Given the description of an element on the screen output the (x, y) to click on. 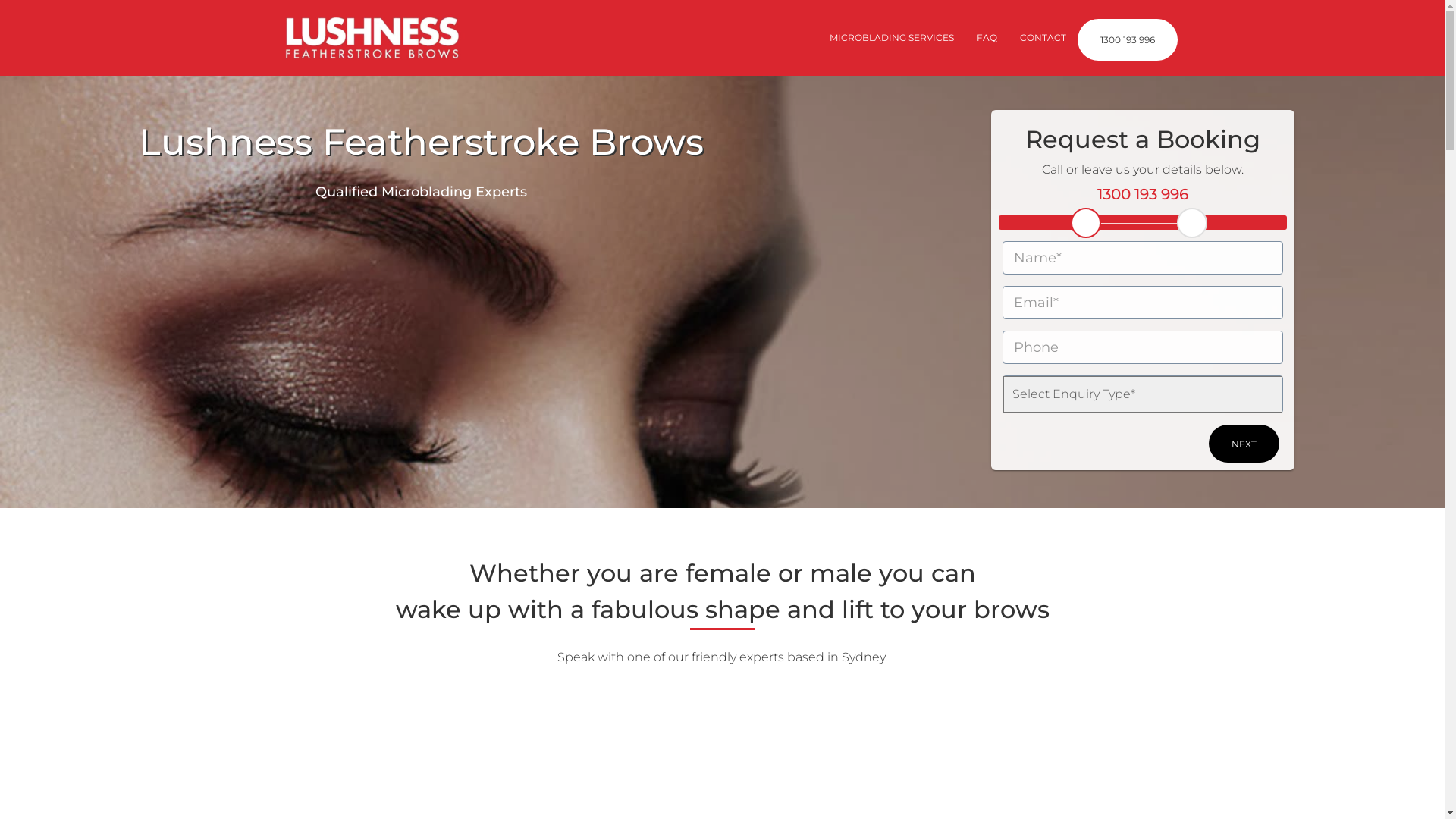
CONTACT Element type: text (1042, 37)
NEXT Element type: text (1243, 443)
1300 193 996 Element type: text (1142, 194)
1300 193 996 Element type: text (1126, 39)
Go to Home Page Element type: hover (371, 37)
FAQ Element type: text (985, 37)
MICROBLADING SERVICES Element type: text (890, 37)
